Given the description of an element on the screen output the (x, y) to click on. 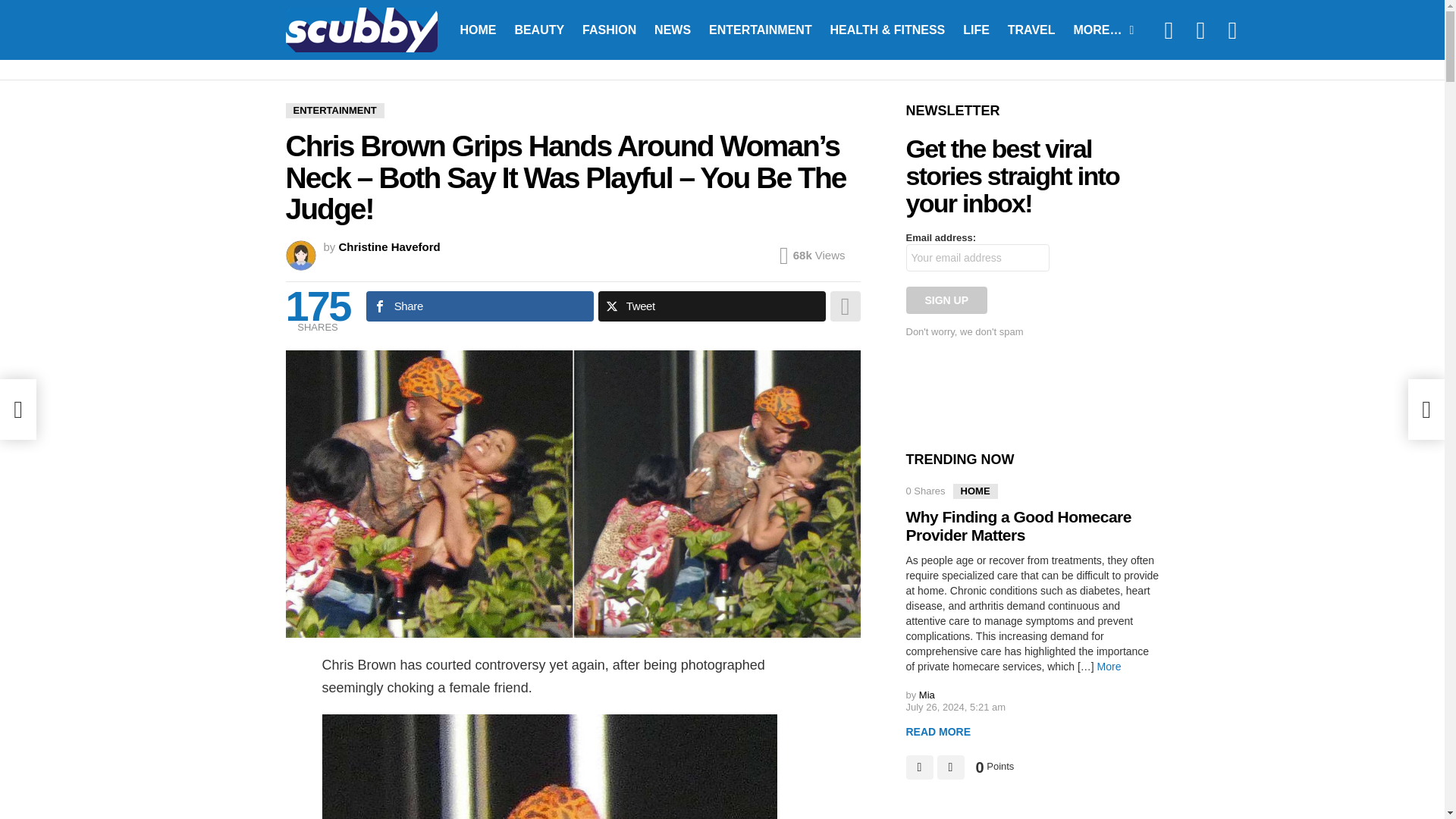
Sign up (946, 299)
FASHION (609, 29)
Posts by Mia (926, 695)
Share (480, 306)
HOME (477, 29)
ENTERTAINMENT (334, 110)
Follow us (1168, 29)
Upvote (919, 767)
FOLLOW US (1168, 29)
SEARCH (1200, 29)
BEAUTY (539, 29)
ENTERTAINMENT (760, 29)
Christine Haveford (390, 246)
TRAVEL (1031, 29)
LIFE (976, 29)
